Given the description of an element on the screen output the (x, y) to click on. 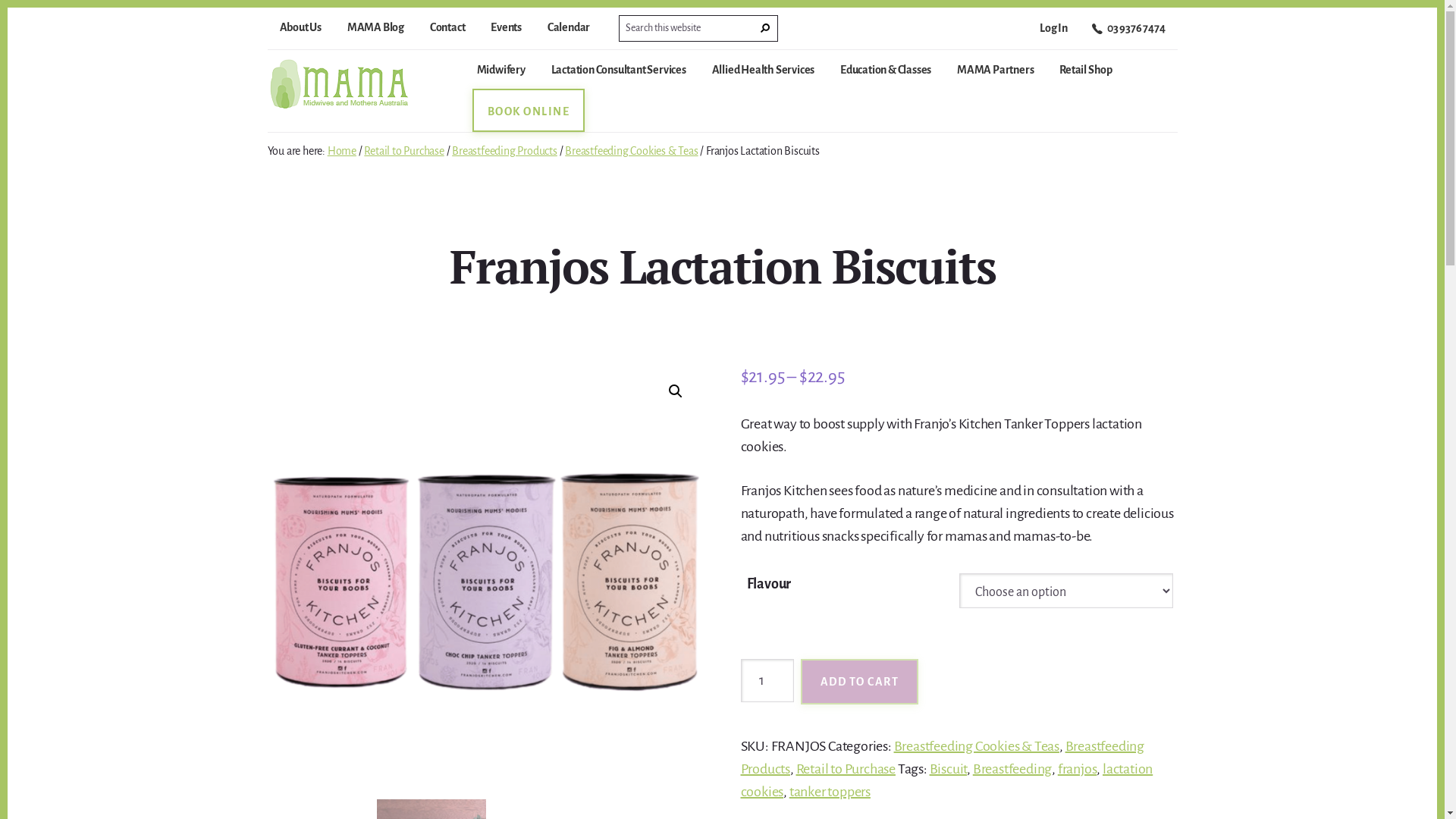
Midwifery Element type: text (500, 75)
Breastfeeding Element type: text (1011, 768)
Contact Element type: text (447, 30)
Log In Element type: text (1053, 30)
Allied Health Services Element type: text (763, 75)
Education & Classes Element type: text (885, 75)
Events Element type: text (505, 30)
lactation cookies Element type: text (946, 780)
tanker toppers Element type: text (829, 791)
franjos Element type: text (1077, 768)
Skip to content Element type: text (7, 7)
MAMA Partners Element type: text (994, 75)
03 9376 7474 Element type: text (1127, 32)
MAMA Blog Element type: text (375, 30)
Calendar Element type: text (568, 30)
ADD TO CART Element type: text (859, 681)
SEARCH Element type: text (765, 27)
Lactation Consultant Services Element type: text (618, 75)
Breastfeeding Products Element type: text (941, 757)
Retail to Purchase Element type: text (845, 768)
Retail Shop Element type: text (1085, 75)
Breastfeeding Cookies & Teas Element type: text (976, 745)
Retail to Purchase Element type: text (403, 150)
About Us Element type: text (299, 30)
Breastfeeding Cookies & Teas Element type: text (630, 150)
Breastfeeding Products Element type: text (504, 150)
BOOK ONLINE Element type: text (527, 117)
Home Element type: text (341, 150)
Biscuit Element type: text (948, 768)
